Given the description of an element on the screen output the (x, y) to click on. 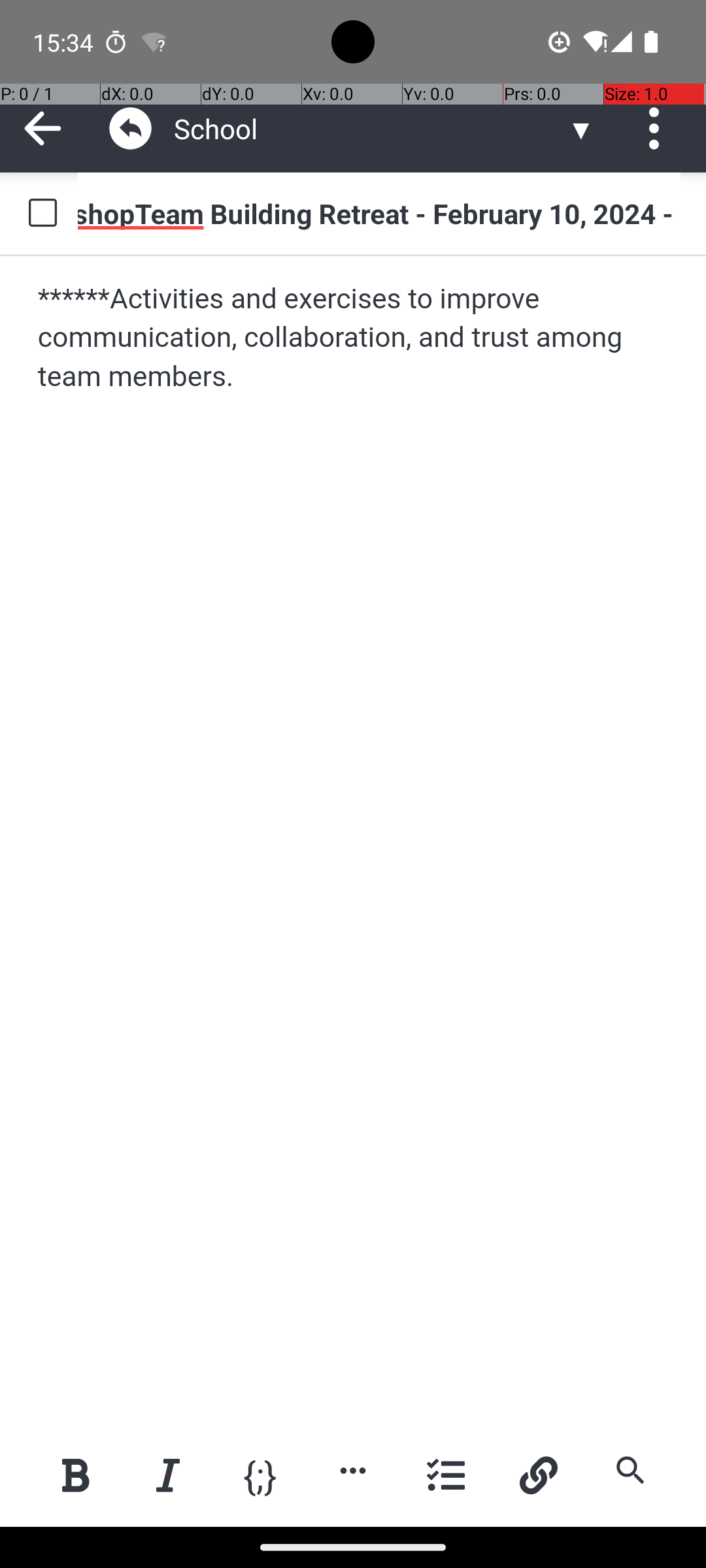
Team Building WorkshopTeam Building Retreat - February 10, 2024 - January 17, 2024 Element type: android.widget.EditText (378, 213)
******Activities and exercises to improve communication, collaboration, and trust among team members. Element type: android.widget.EditText (354, 338)
